Given the description of an element on the screen output the (x, y) to click on. 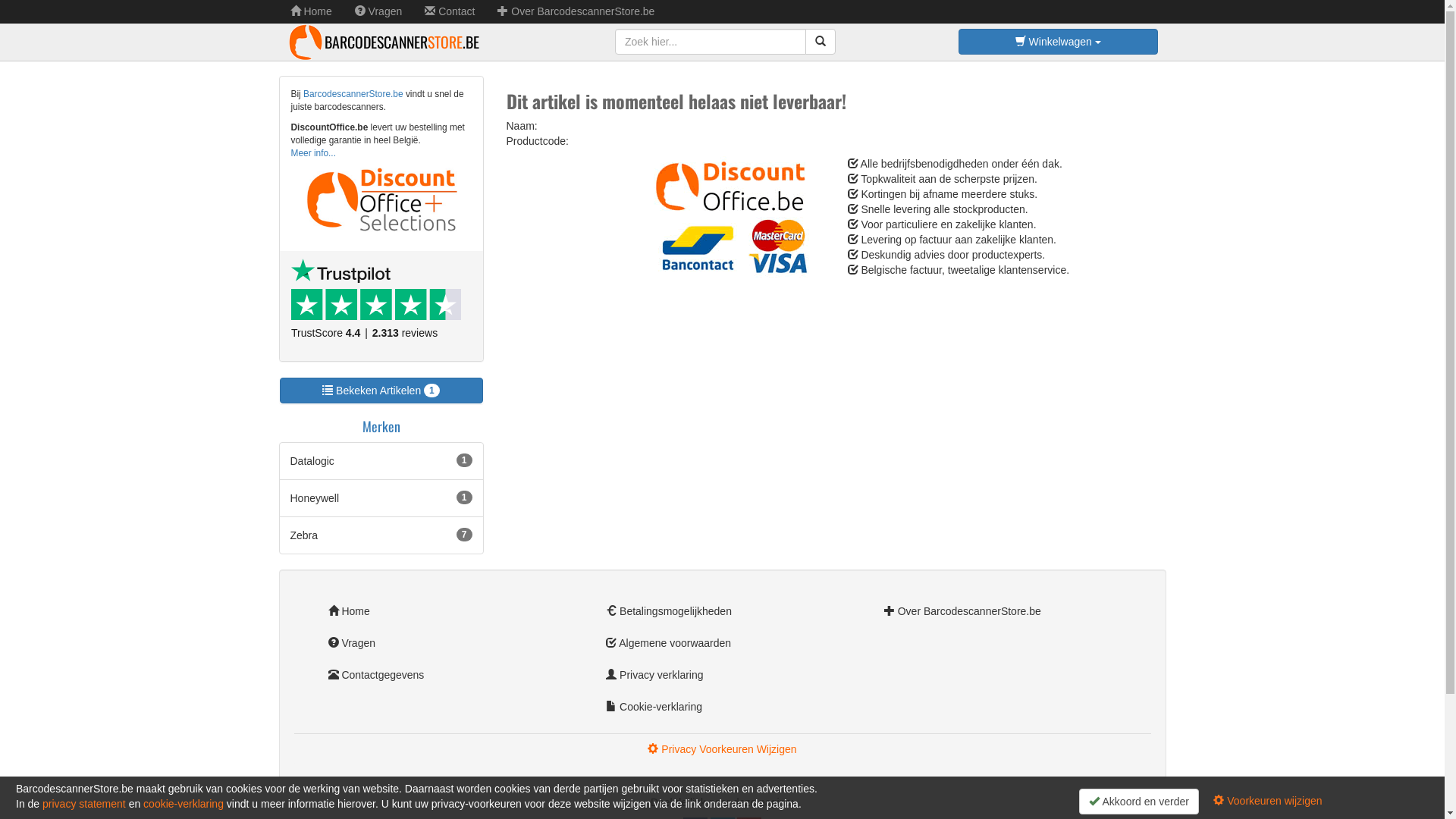
Datalogic
1 Element type: text (380, 460)
Betalingsmogelijkheden Element type: text (722, 611)
privacy statement Element type: text (83, 803)
Over BarcodescannerStore.be Element type: text (1000, 611)
Honeywell
1 Element type: text (380, 498)
Meer info... Element type: text (313, 152)
 Voorkeuren wijzigen Element type: text (1267, 800)
BARCODESCANNERSTORE.BE Element type: text (384, 41)
Zebra
7 Element type: text (380, 535)
Algemene voorwaarden Element type: text (722, 642)
Vragen Element type: text (378, 11)
cookie-verklaring Element type: text (183, 803)
Privacy verklaring Element type: text (722, 674)
 Akkoord en verder Element type: text (1138, 801)
Over BarcodescannerStore.be Element type: text (575, 11)
Privacy Voorkeuren Wijzigen Element type: text (721, 749)
Home Element type: text (444, 611)
Contact Element type: text (449, 11)
Contactgegevens Element type: text (444, 674)
Customer reviews powered by Trustpilot Element type: hover (381, 305)
Home Element type: text (311, 11)
Cookie-verklaring Element type: text (722, 706)
Bekeken Artikelen 1 Element type: text (380, 390)
Vragen Element type: text (444, 642)
Merken Element type: text (381, 426)
Winkelwagen Element type: text (1057, 41)
BarcodescannerStore.be Element type: text (353, 93)
